Given the description of an element on the screen output the (x, y) to click on. 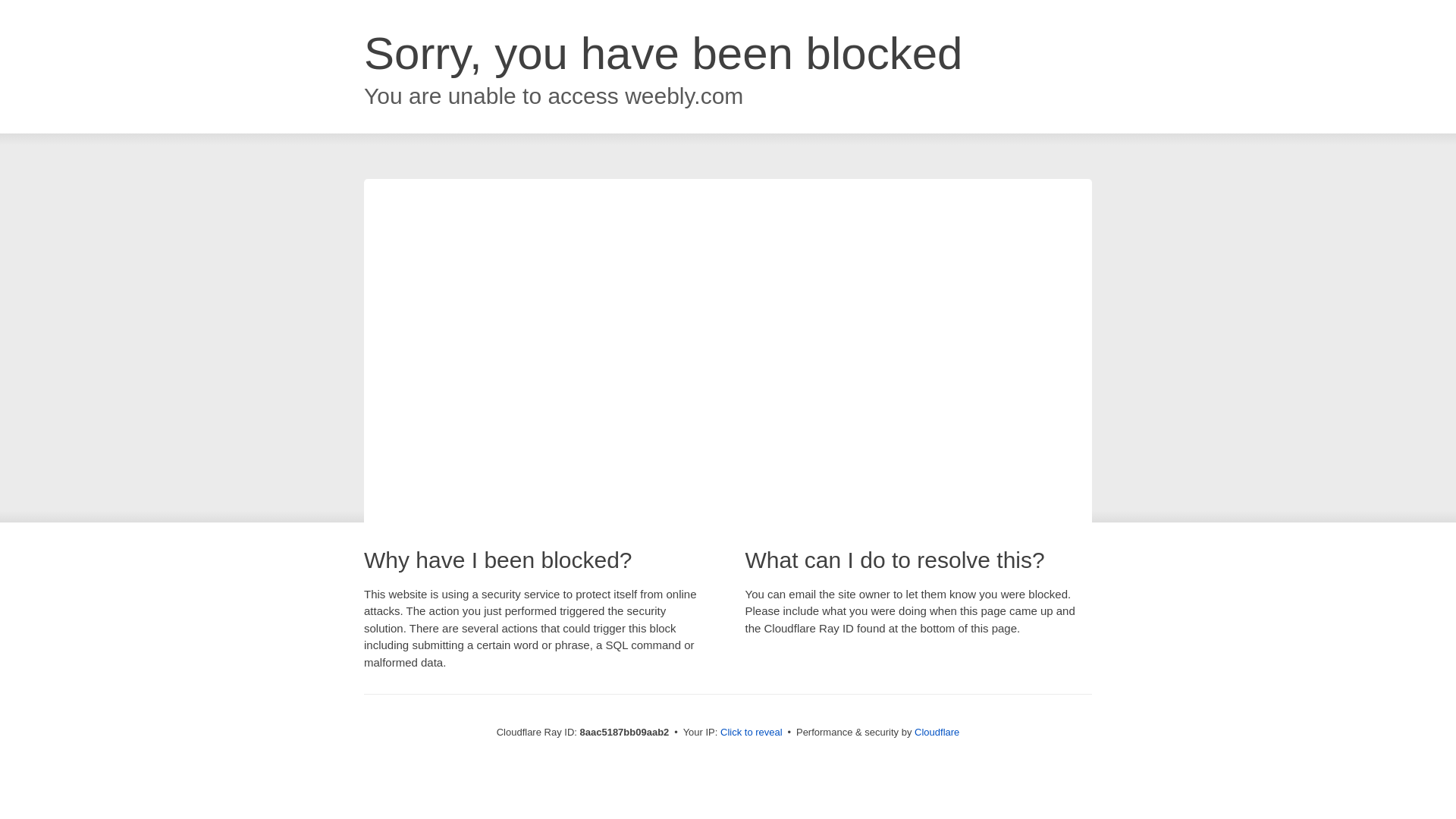
Click to reveal (751, 732)
Cloudflare (936, 731)
